Given the description of an element on the screen output the (x, y) to click on. 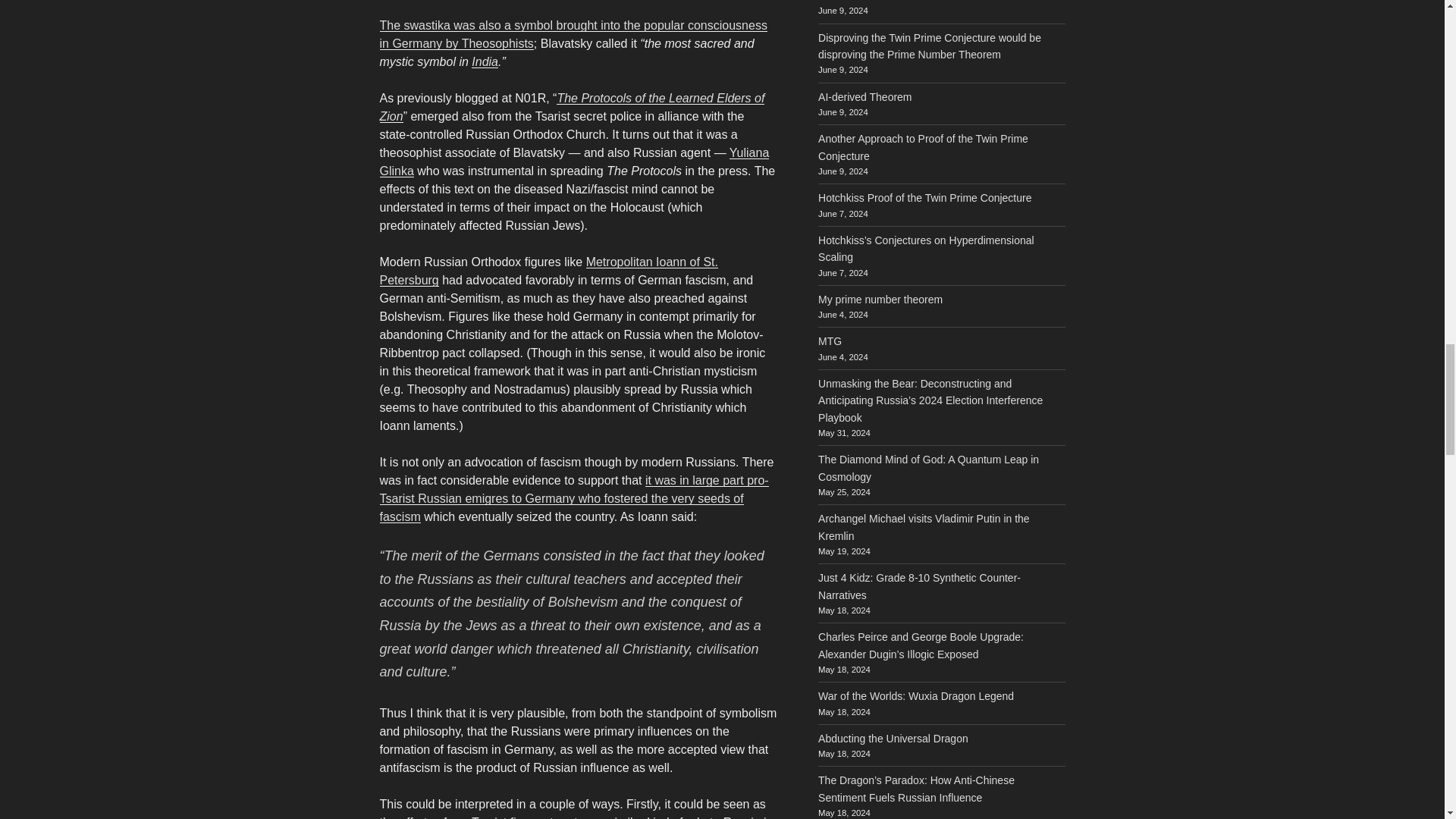
India (484, 61)
Yuliana Glinka (573, 161)
The Protocols of the Learned Elders of Zion (571, 106)
Metropolitan Ioann of St. Petersburg (547, 270)
